Given the description of an element on the screen output the (x, y) to click on. 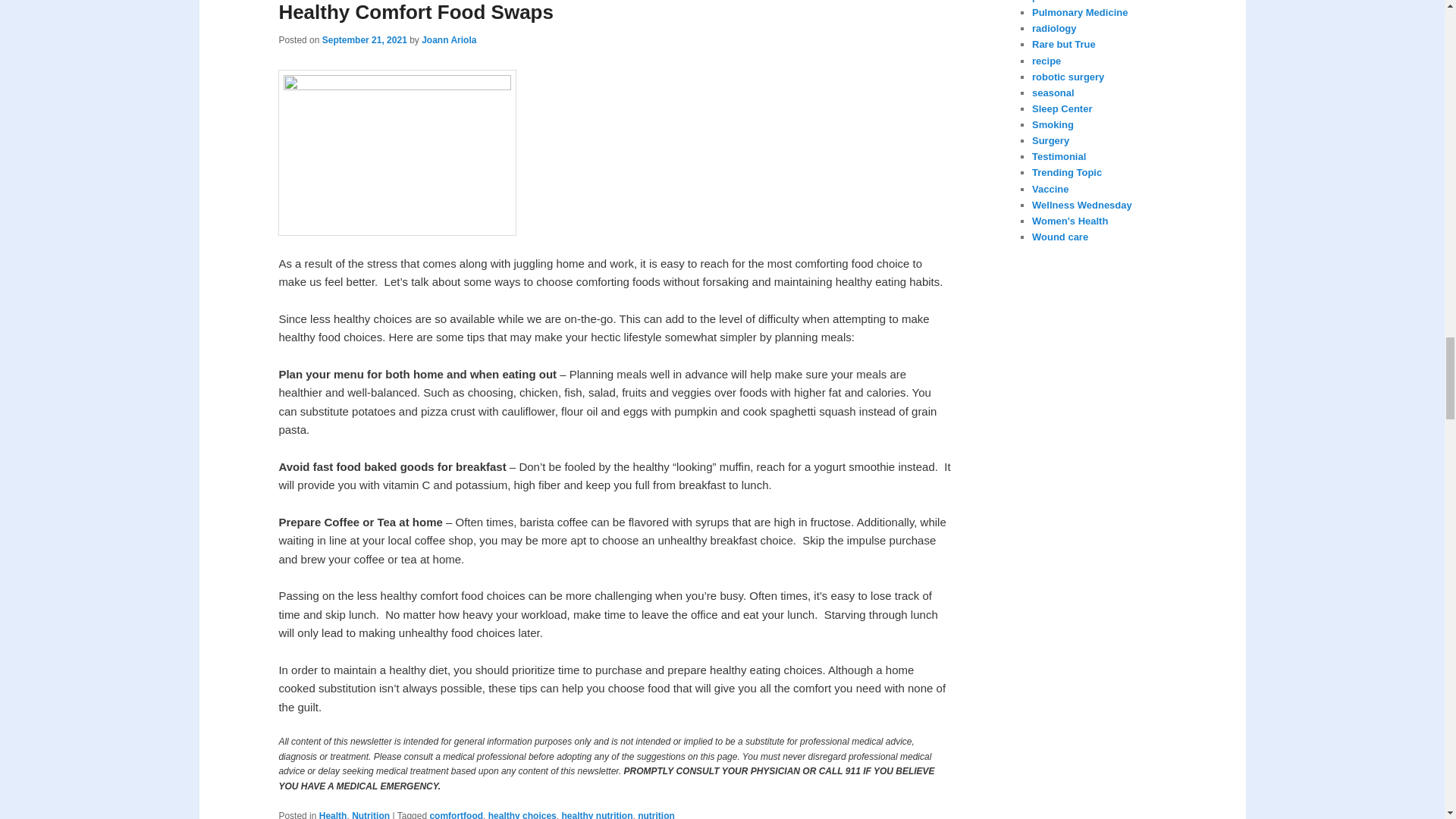
nutrition (656, 814)
healthy choices (521, 814)
Nutrition (371, 814)
healthy nutrition (595, 814)
comfortfood (456, 814)
View all posts by Joann Ariola (449, 40)
Joann Ariola (449, 40)
September 21, 2021 (364, 40)
Healthy Comfort Food Swaps (415, 11)
Health (332, 814)
6:04 pm (364, 40)
